Given the description of an element on the screen output the (x, y) to click on. 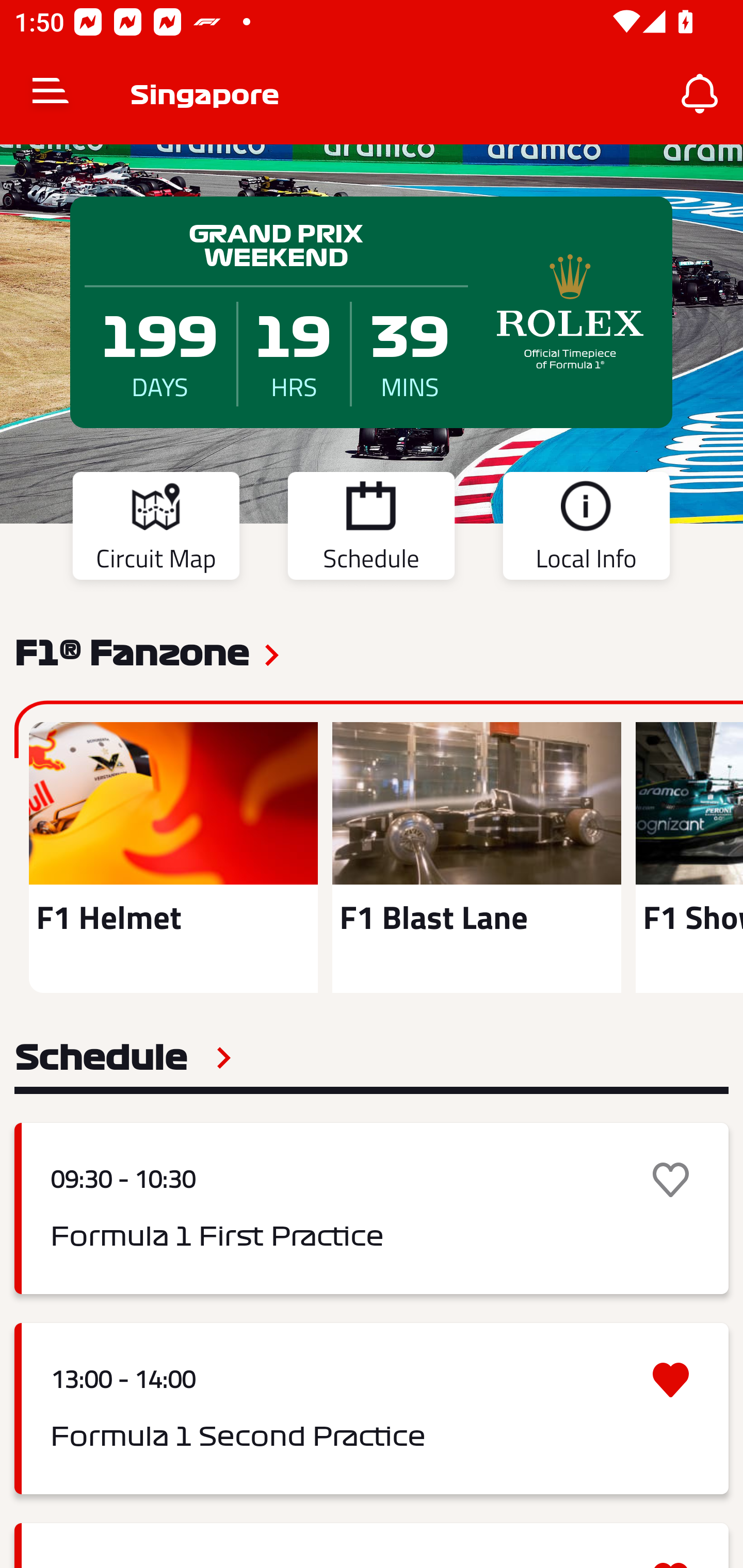
Navigate up (50, 93)
Notifications (699, 93)
Circuit Map (155, 528)
Schedule (370, 528)
Local Info (586, 528)
F1® Fanzone (131, 651)
F1 Helmet (173, 857)
F1 Blast Lane (476, 857)
Schedule (122, 1057)
09:30 - 10:30 Formula 1 First Practice (371, 1207)
13:00 - 14:00 Formula 1 Second Practice (371, 1408)
